Given the description of an element on the screen output the (x, y) to click on. 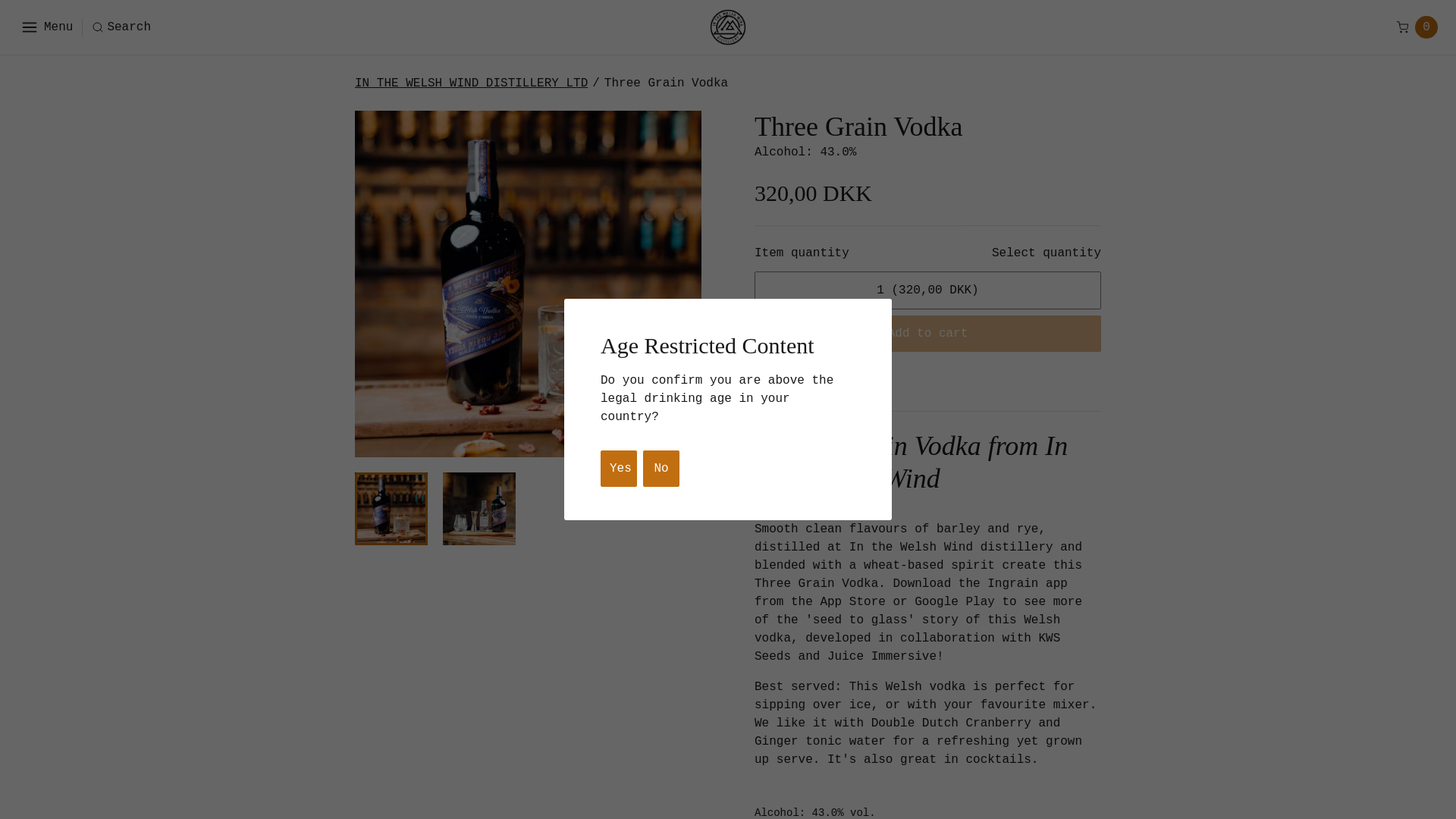
Add to cart (927, 333)
IN THE WELSH WIND DISTILLERY LTD (471, 83)
Menu (44, 26)
0 (1417, 26)
Search (121, 27)
